Given the description of an element on the screen output the (x, y) to click on. 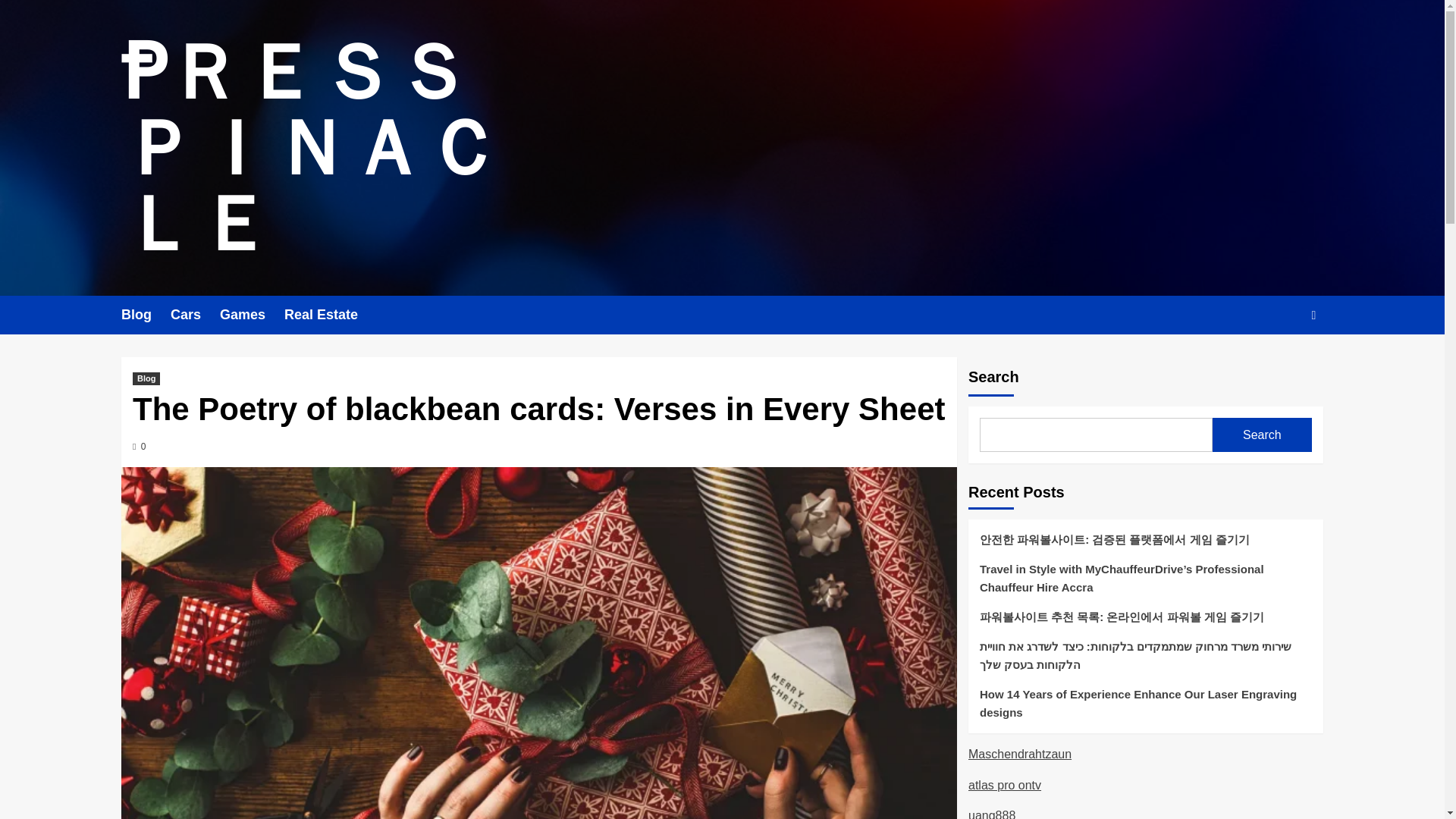
uang888 (991, 814)
Search (1261, 434)
Maschendrahtzaun (1019, 753)
Games (251, 314)
Blog (145, 314)
0 (138, 446)
Real Estate (330, 314)
Search (1278, 360)
atlas pro ontv (1004, 784)
Blog (146, 378)
Cars (194, 314)
